Given the description of an element on the screen output the (x, y) to click on. 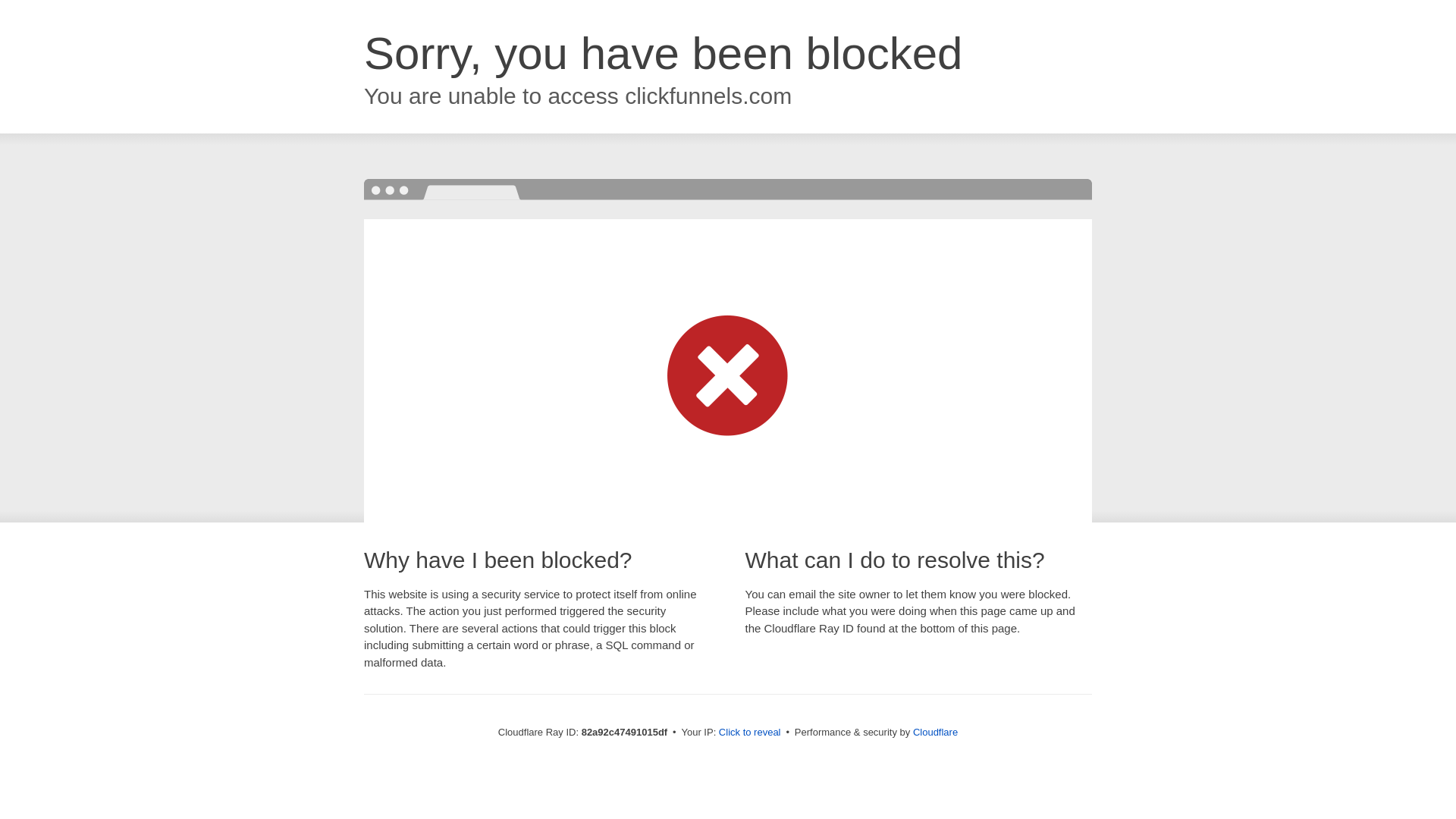
Click to reveal Element type: text (749, 732)
Cloudflare Element type: text (935, 731)
